Given the description of an element on the screen output the (x, y) to click on. 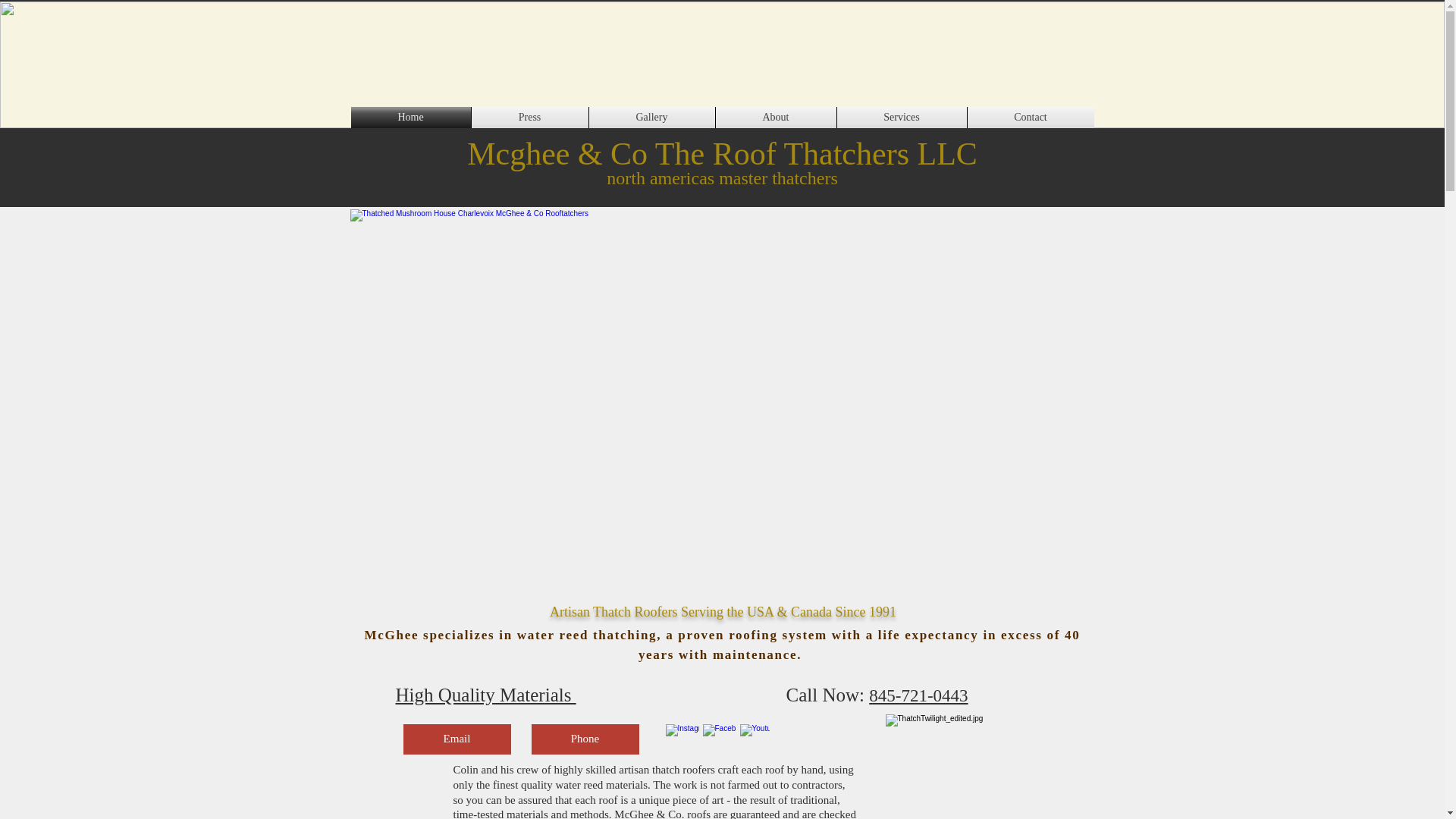
Phone (585, 738)
Home (410, 117)
845-721-0443 (918, 694)
Contact (1031, 117)
Email (457, 738)
Services (901, 117)
High Quality Materials  (486, 694)
Press (529, 117)
north americas master thatchers (722, 178)
Call Now:  (827, 694)
Gallery (651, 117)
About (775, 117)
